Given the description of an element on the screen output the (x, y) to click on. 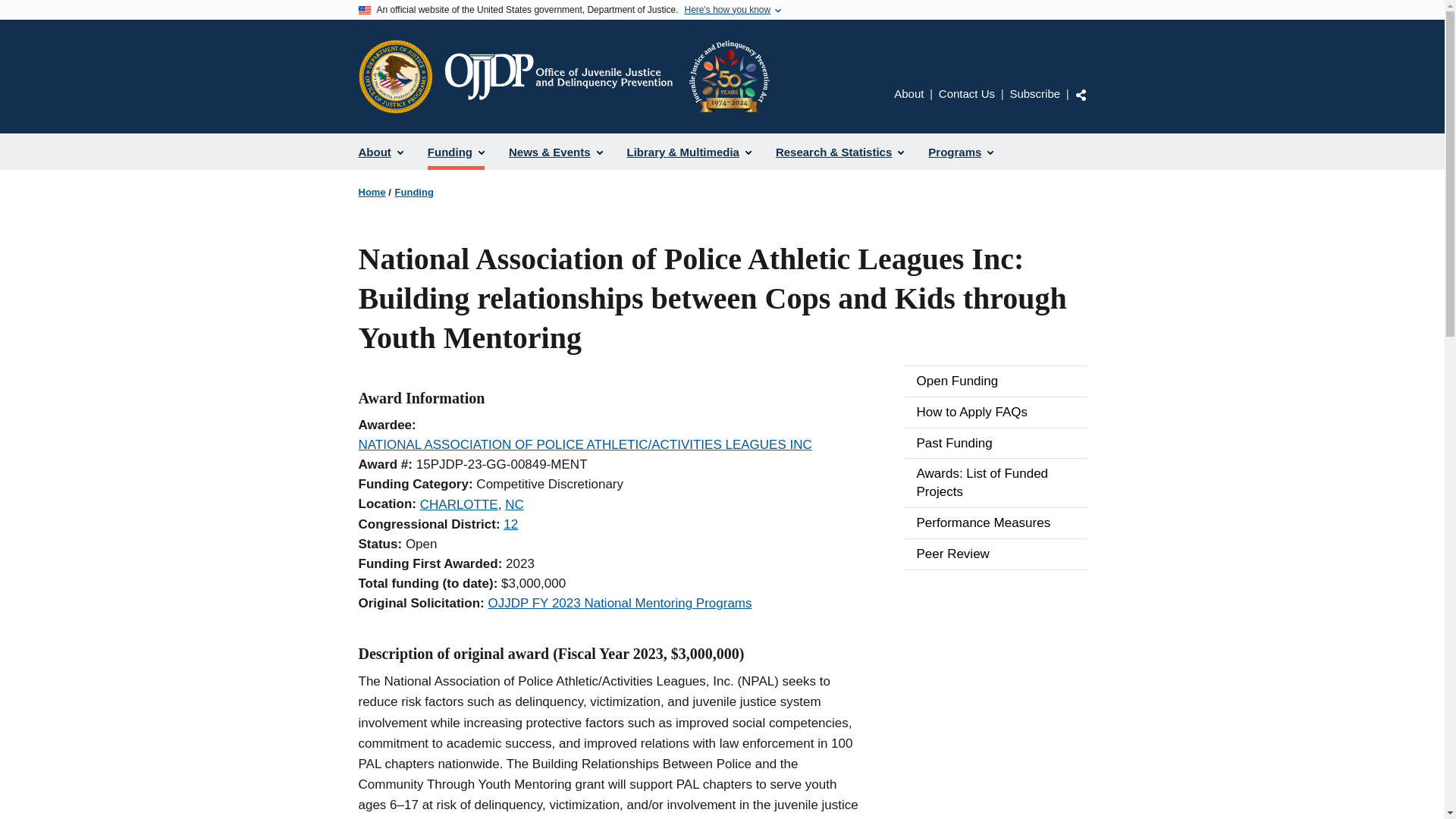
Open Funding (995, 381)
12 (510, 523)
How to Apply FAQs (995, 412)
Funding (455, 151)
Home (606, 76)
CHARLOTTE (458, 504)
Share (1080, 94)
Contact Us (966, 93)
Here's how you know (727, 9)
Programs (960, 151)
